Given the description of an element on the screen output the (x, y) to click on. 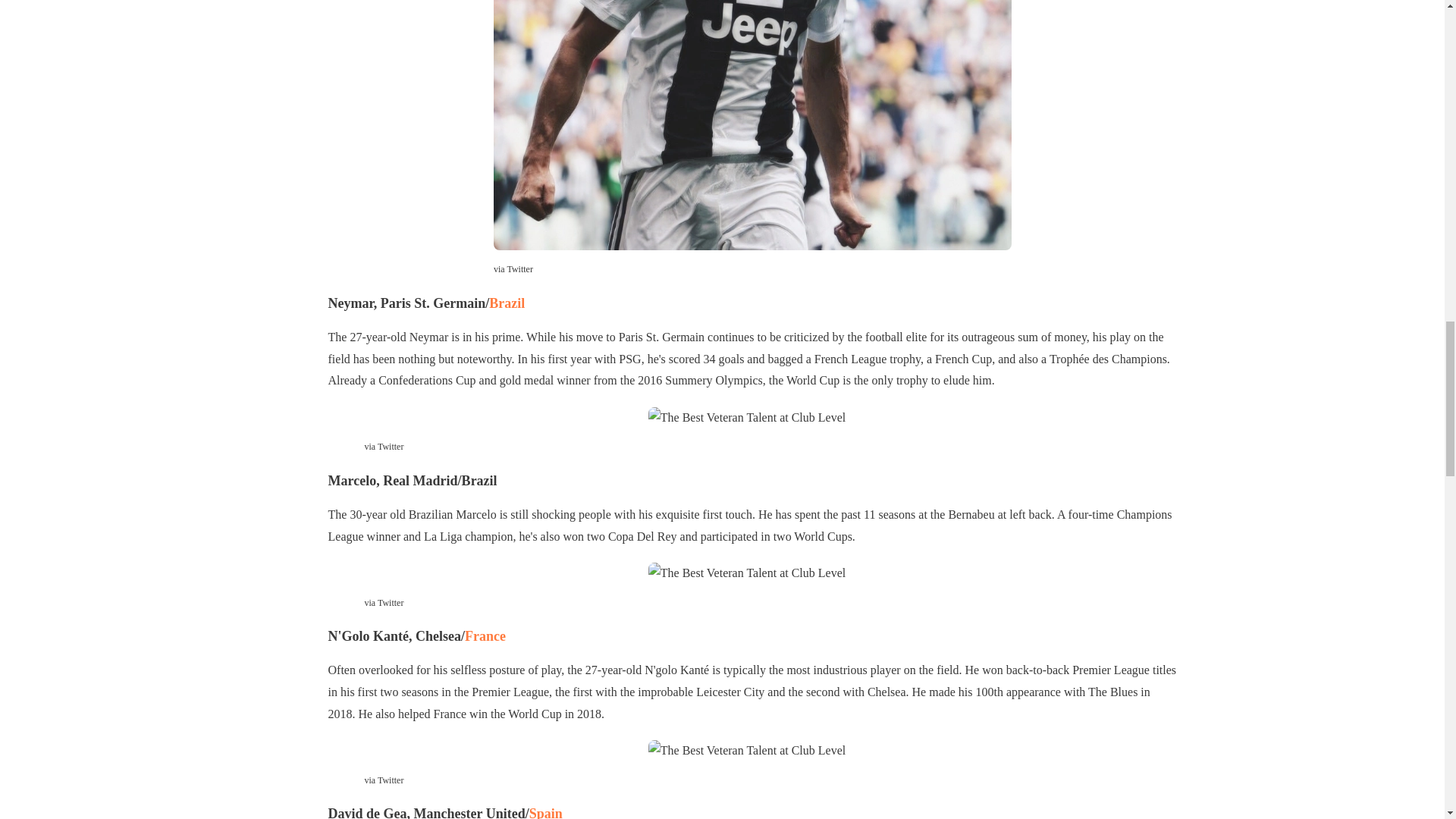
Posts tagged with Spain (545, 812)
Posts tagged with France (484, 635)
Posts tagged with Brazil (506, 303)
